Given the description of an element on the screen output the (x, y) to click on. 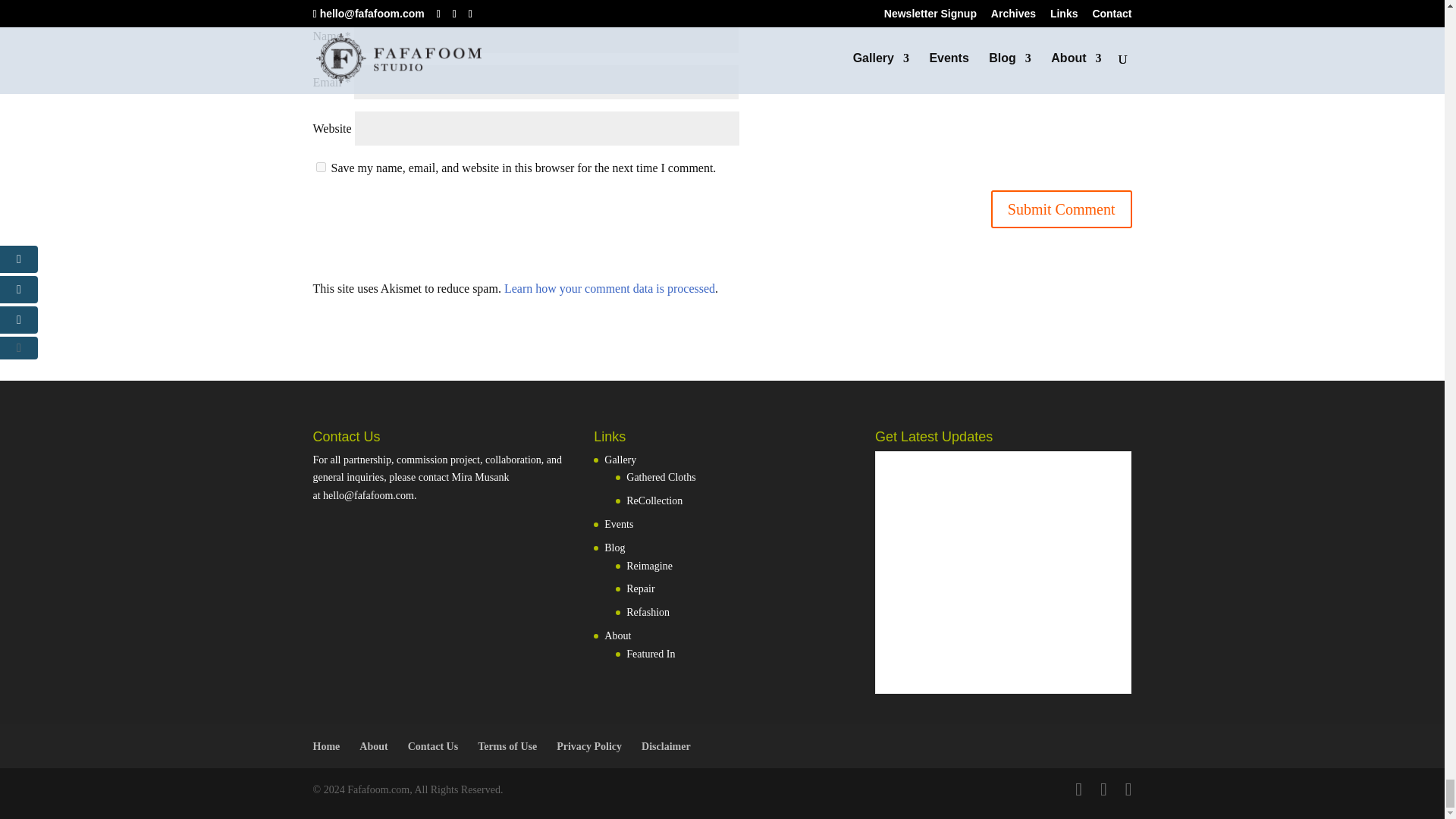
Submit Comment (1061, 209)
yes (319, 166)
